Given the description of an element on the screen output the (x, y) to click on. 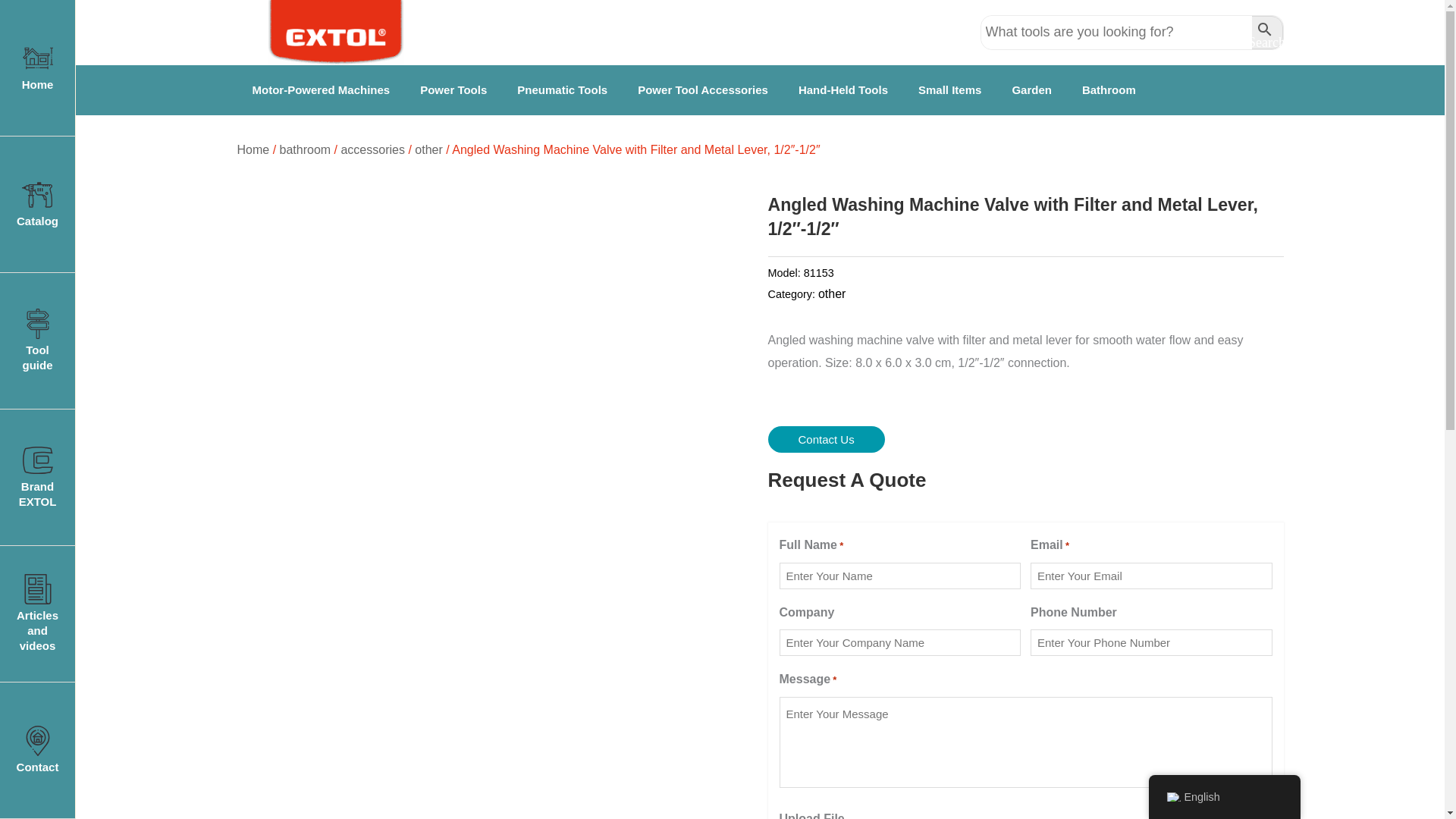
Motor-Powered Machines (319, 89)
English (1172, 796)
Power Tools (453, 89)
